Given the description of an element on the screen output the (x, y) to click on. 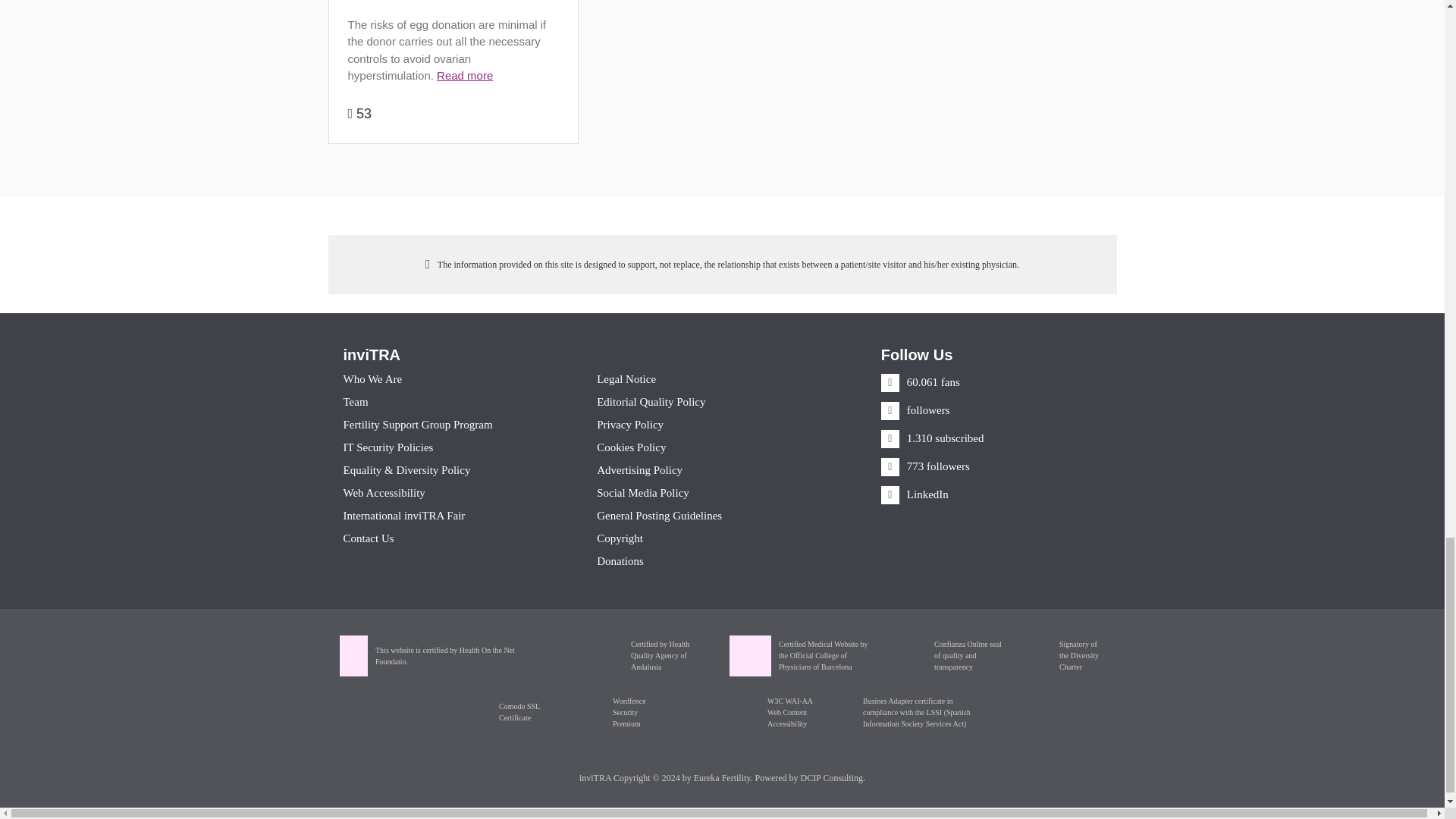
Youtube (932, 438)
Twitter (915, 410)
Facebook (919, 381)
